Given the description of an element on the screen output the (x, y) to click on. 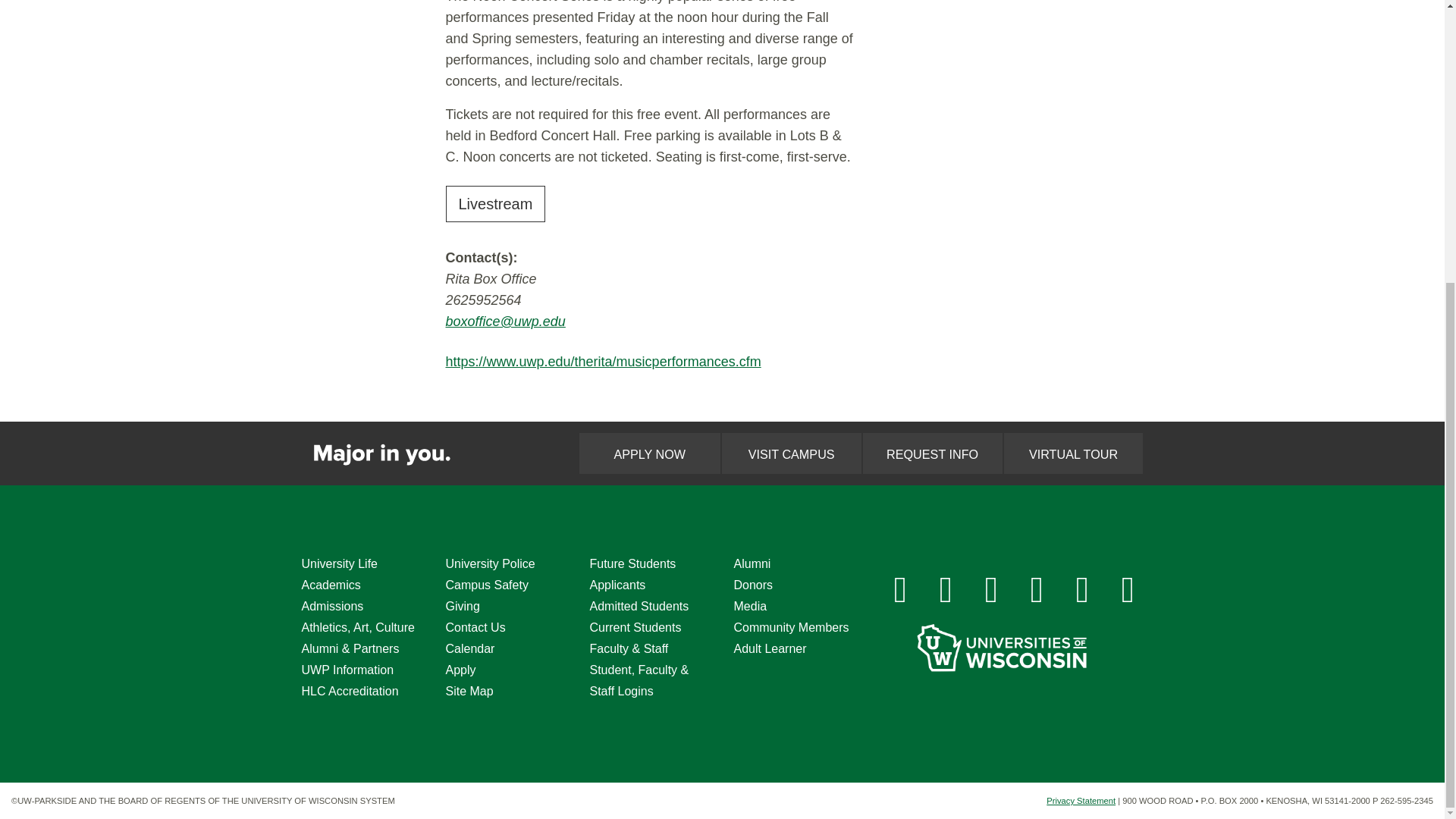
Email Admissions (1128, 588)
Instagram (946, 588)
X (991, 588)
Facebook (900, 588)
TikTok (1082, 588)
LinkedIn (1036, 588)
